Given the description of an element on the screen output the (x, y) to click on. 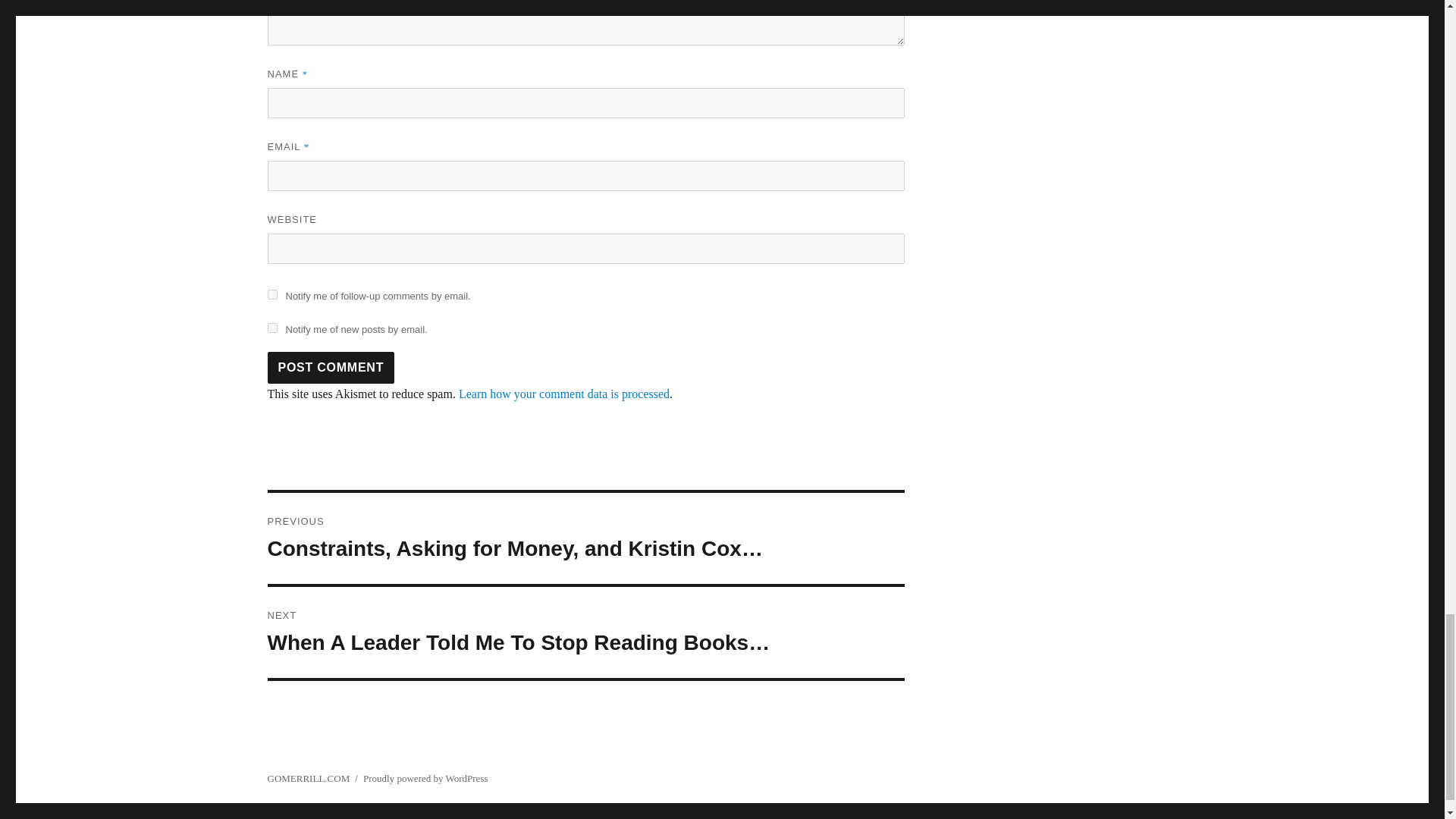
Post Comment (330, 368)
subscribe (271, 294)
Post Comment (330, 368)
subscribe (271, 327)
Learn how your comment data is processed (563, 393)
